Given the description of an element on the screen output the (x, y) to click on. 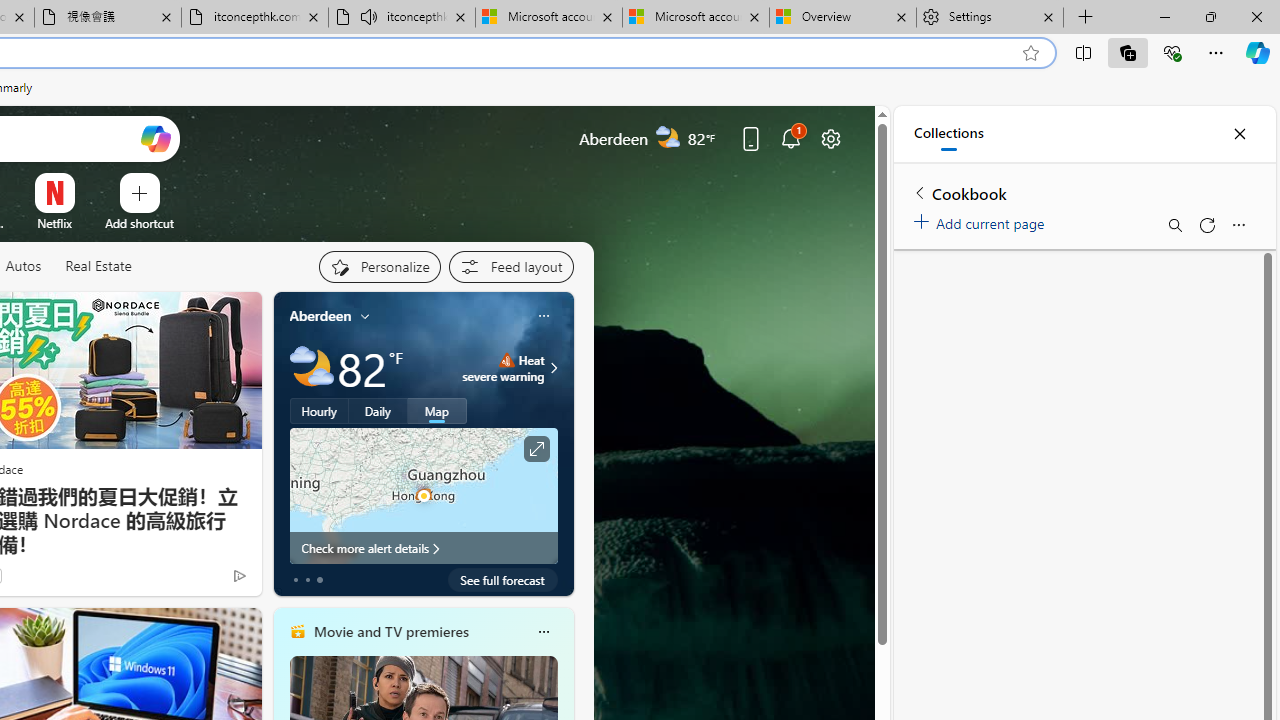
Partly cloudy (311, 368)
tab-1 (306, 579)
tab-2 (319, 579)
Class: weather-arrow-glyph (554, 367)
Class: icon-img (543, 632)
See full forecast (502, 579)
Page settings (831, 138)
tab-0 (295, 579)
